Given the description of an element on the screen output the (x, y) to click on. 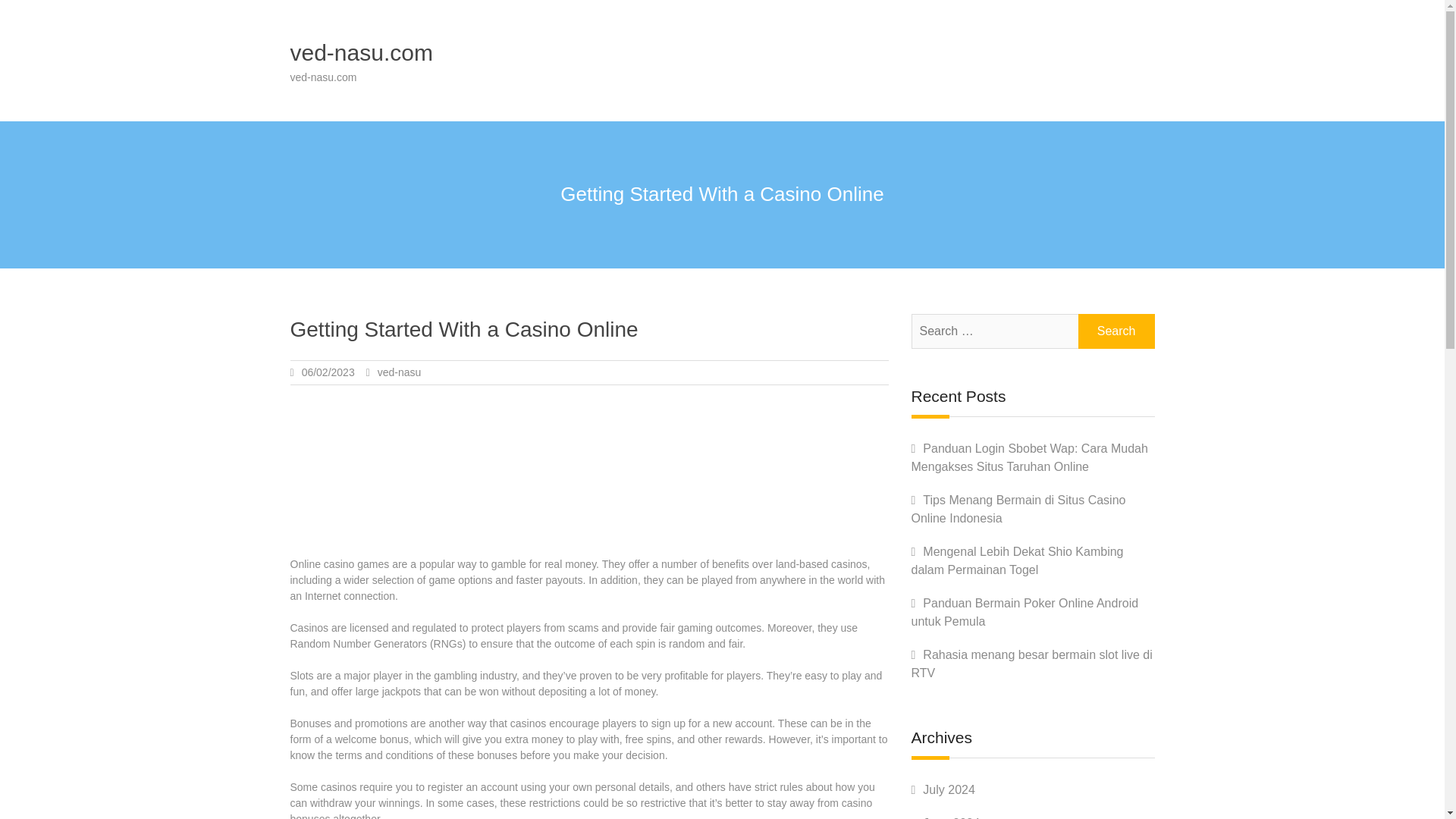
Search (1116, 330)
Mengenal Lebih Dekat Shio Kambing dalam Permainan Togel (1017, 560)
June 2024 (951, 817)
Tips Menang Bermain di Situs Casino Online Indonesia (1018, 508)
ved-nasu (399, 372)
Search (1116, 330)
July 2024 (949, 789)
ved-nasu.com (360, 52)
Rahasia menang besar bermain slot live di RTV (1032, 663)
Panduan Bermain Poker Online Android untuk Pemula (1024, 612)
Search (1116, 330)
